Given the description of an element on the screen output the (x, y) to click on. 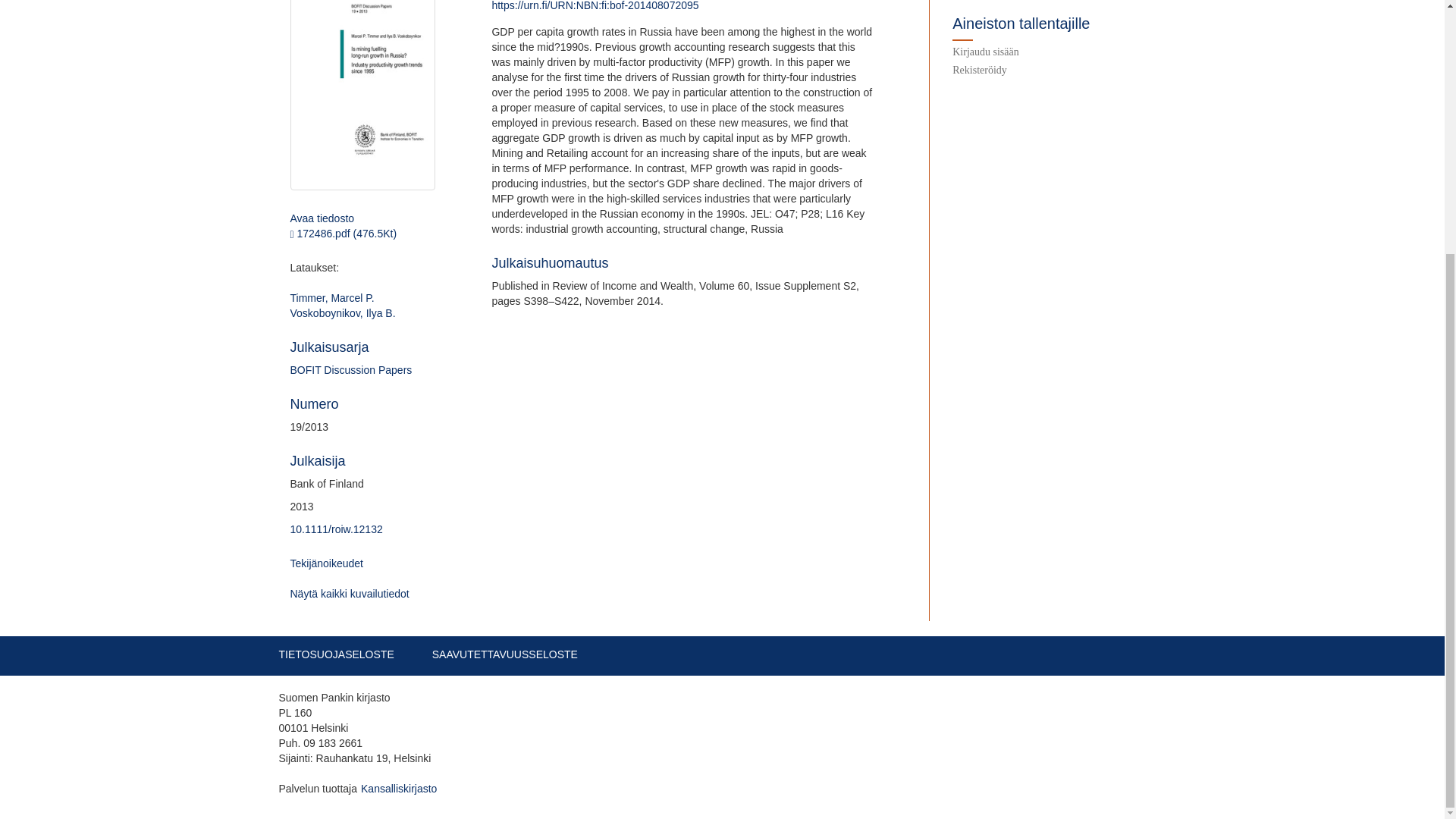
TIETOSUOJASELOSTE (336, 654)
BOFIT Discussion Papers (350, 369)
Timmer, Marcel P. (331, 297)
Voskoboynikov, Ilya B. (341, 313)
